Given the description of an element on the screen output the (x, y) to click on. 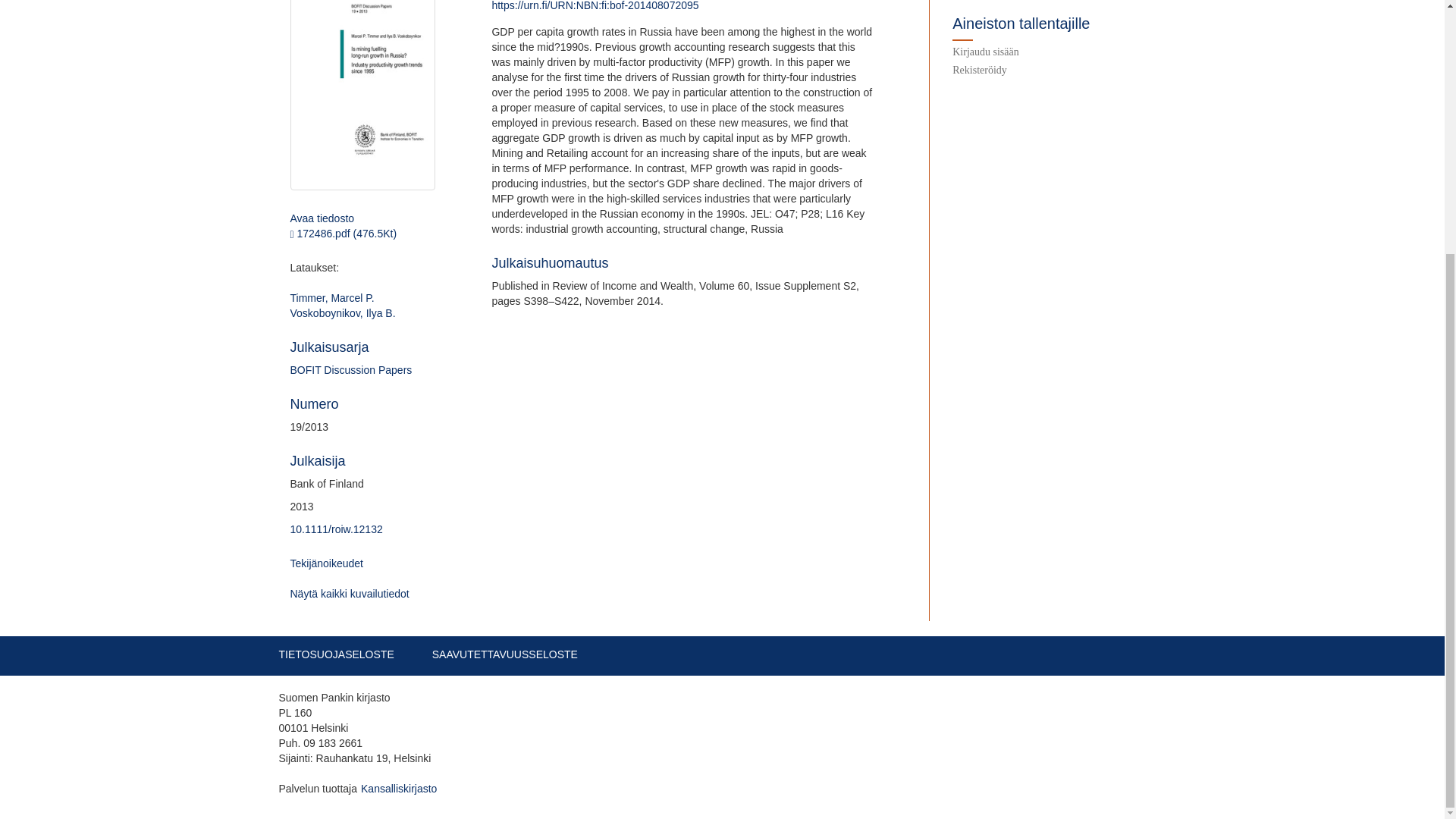
TIETOSUOJASELOSTE (336, 654)
BOFIT Discussion Papers (350, 369)
Timmer, Marcel P. (331, 297)
Voskoboynikov, Ilya B. (341, 313)
